Given the description of an element on the screen output the (x, y) to click on. 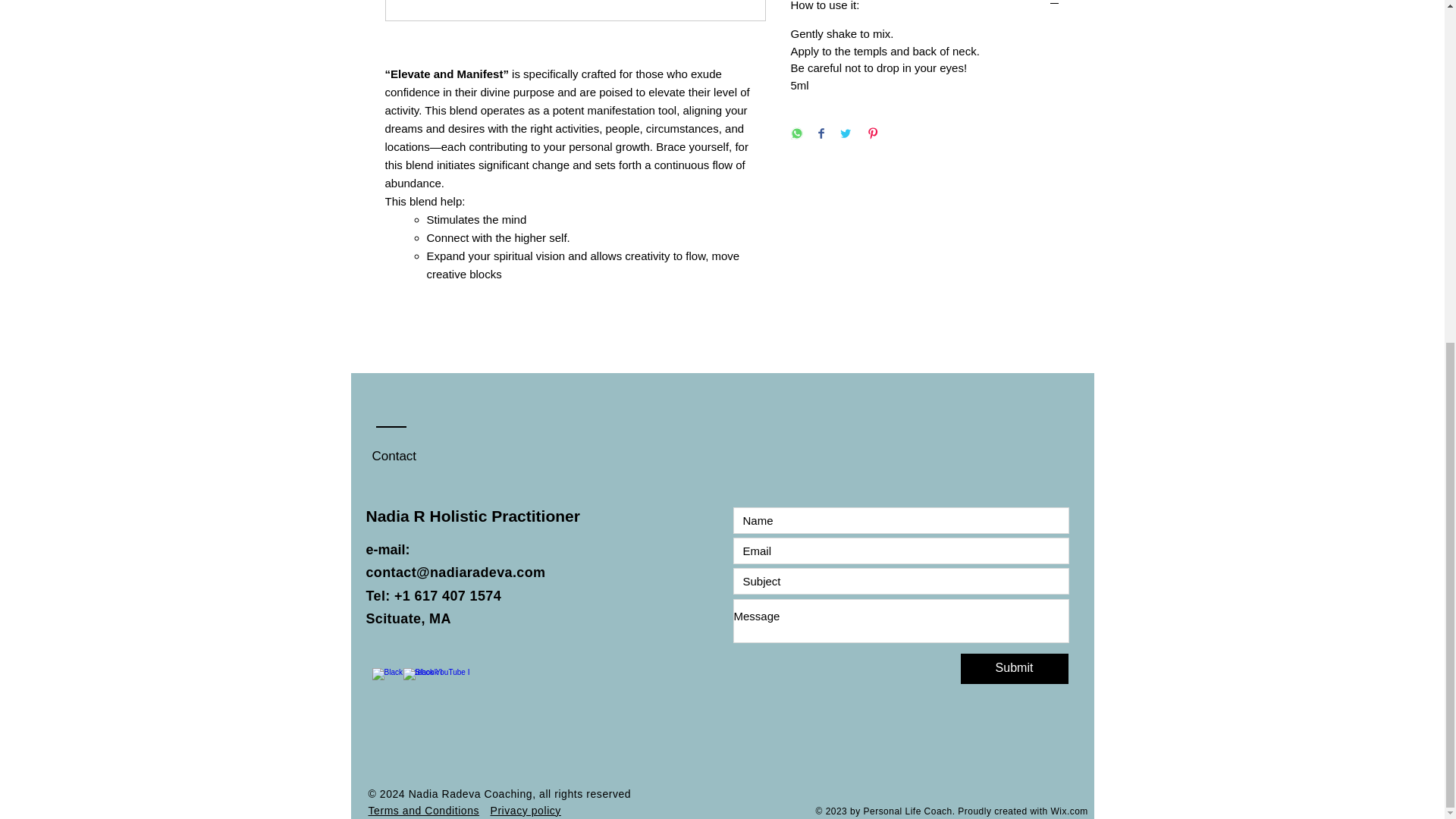
Privacy policy (524, 810)
Submit (1013, 668)
Terms and Conditions (424, 810)
Wix.com (1068, 810)
How to use it: (924, 6)
